Given the description of an element on the screen output the (x, y) to click on. 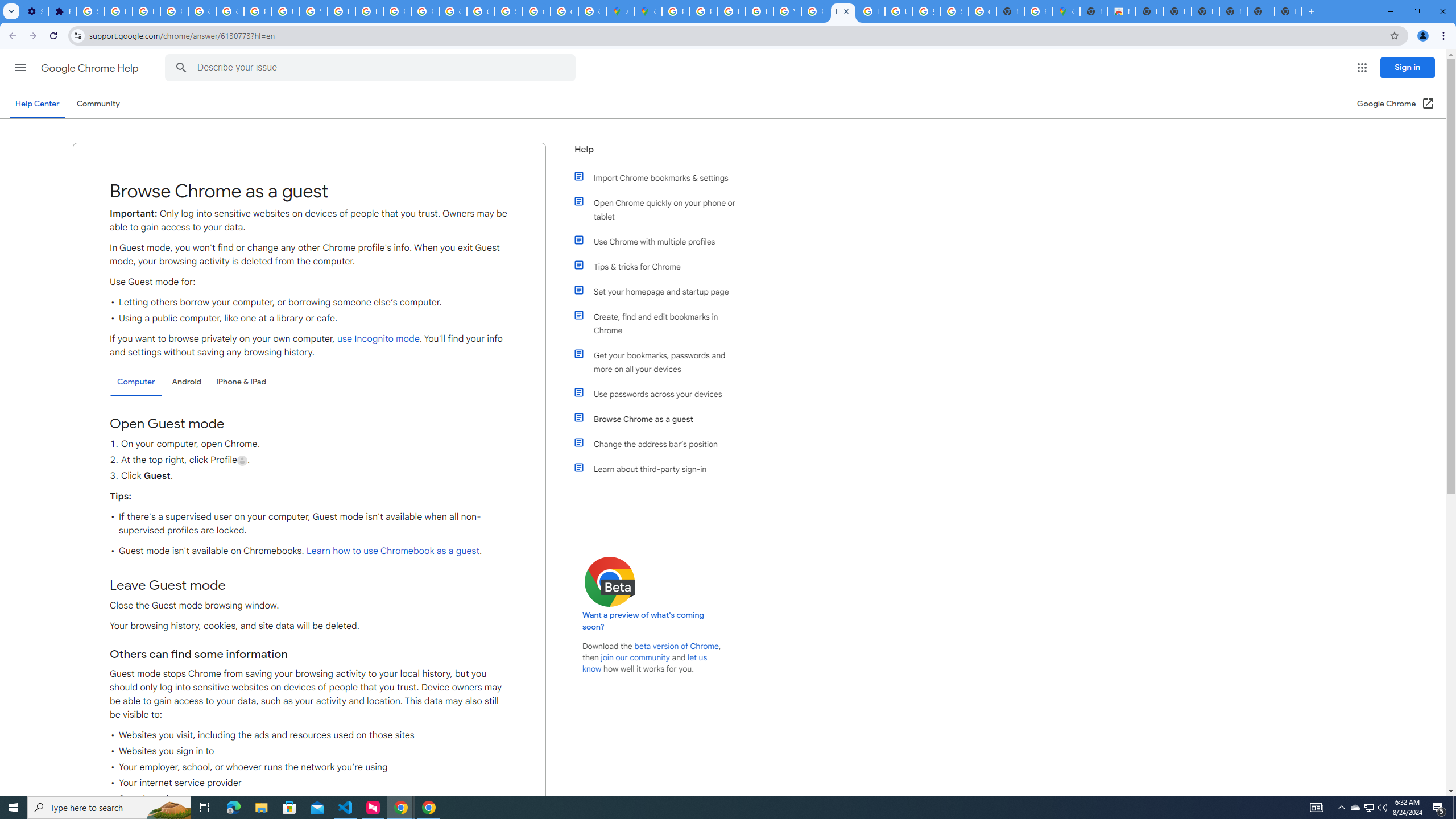
join our community (634, 657)
https://scholar.google.com/ (341, 11)
New Tab (1288, 11)
Google Chrome Help (90, 68)
Set your homepage and startup page (661, 291)
